Given the description of an element on the screen output the (x, y) to click on. 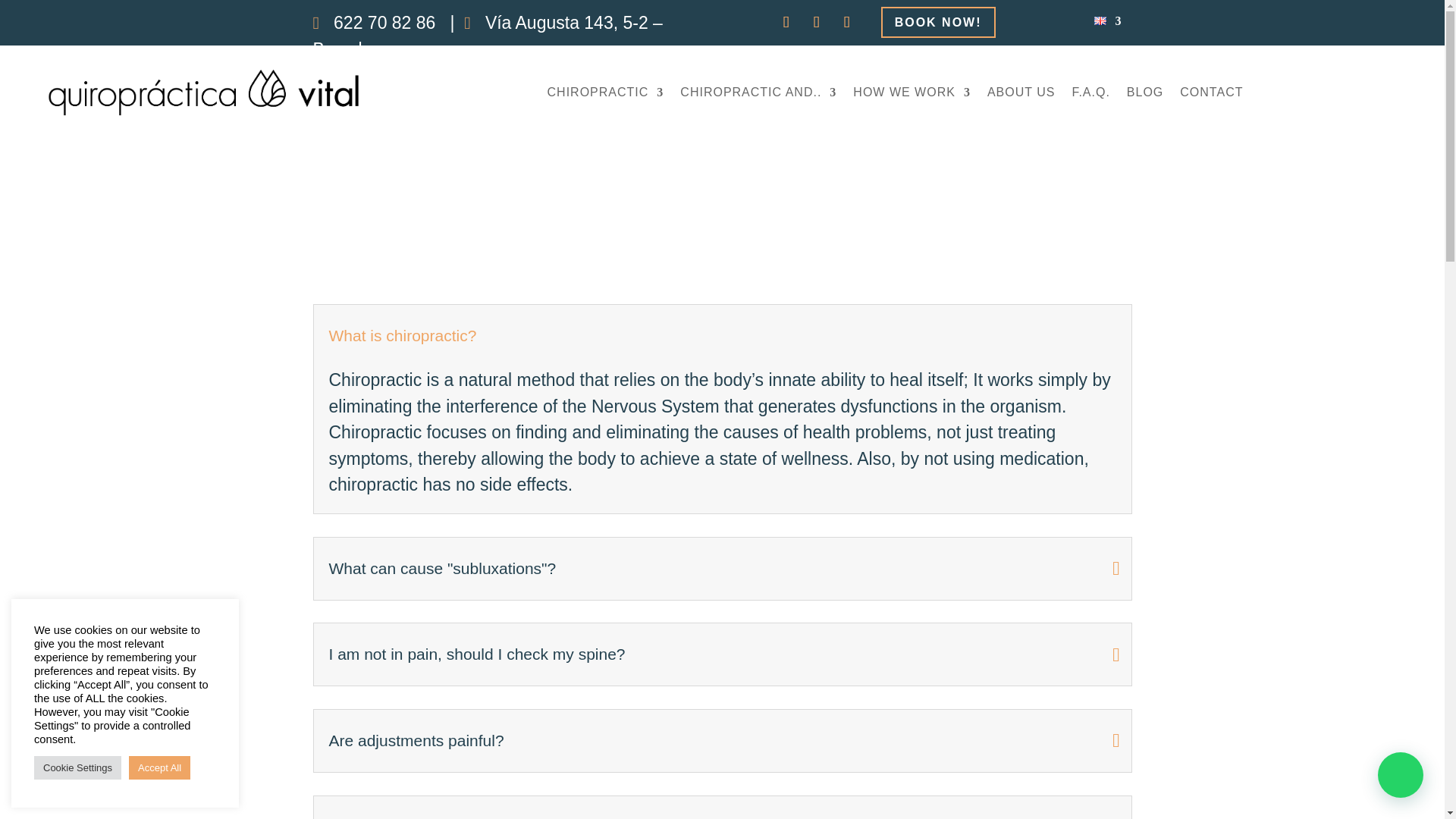
logotipo-quiropractica-vital-black (204, 92)
Follow on Instagram (816, 21)
Follow on Youtube (847, 21)
Follow on Facebook (786, 21)
